Given the description of an element on the screen output the (x, y) to click on. 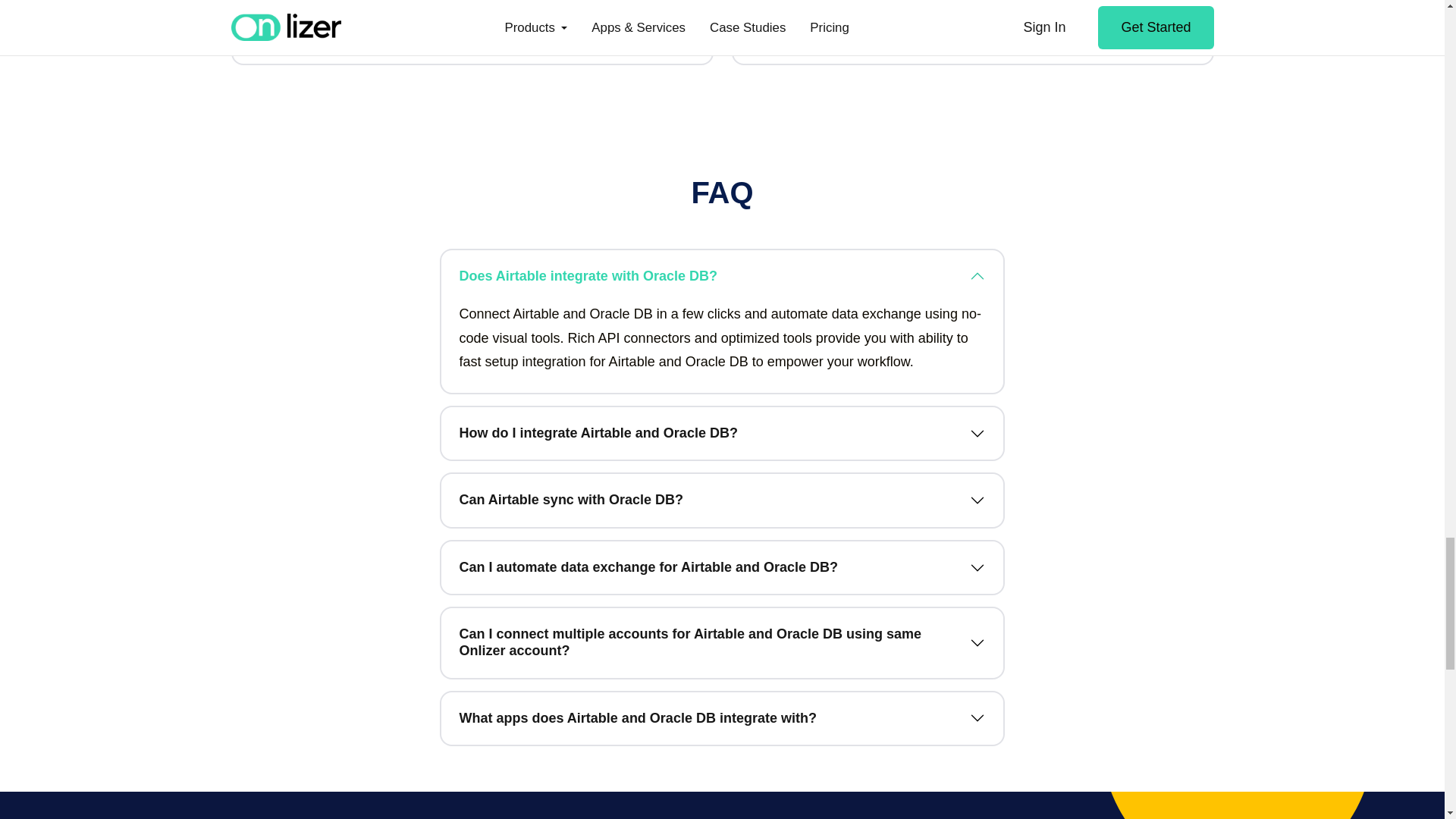
Can I automate data exchange for Airtable and Oracle DB? (722, 567)
Try action (972, 34)
What apps does Airtable and Oracle DB integrate with? (722, 718)
Try action (471, 34)
Can Airtable sync with Oracle DB? (722, 500)
Does Airtable integrate with Oracle DB? (722, 276)
How do I integrate Airtable and Oracle DB? (722, 433)
